Given the description of an element on the screen output the (x, y) to click on. 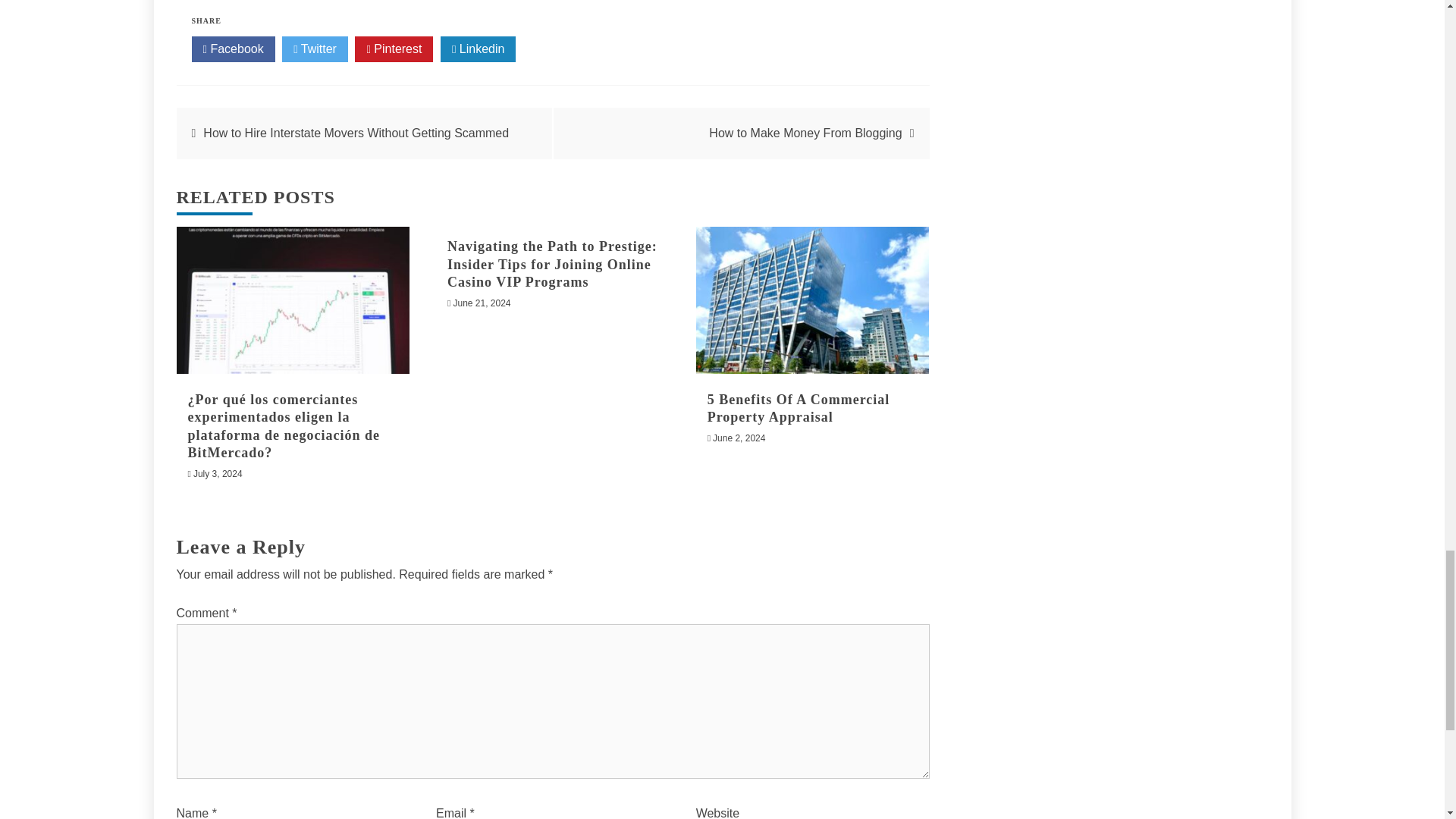
June 2, 2024 (739, 438)
5 Benefits Of A Commercial Property Appraisal (798, 408)
June 21, 2024 (481, 303)
July 3, 2024 (218, 473)
Pinterest (393, 49)
How to Hire Interstate Movers Without Getting Scammed (355, 132)
Facebook (232, 49)
Linkedin (478, 49)
Twitter (314, 49)
How to Make Money From Blogging (805, 132)
